Given the description of an element on the screen output the (x, y) to click on. 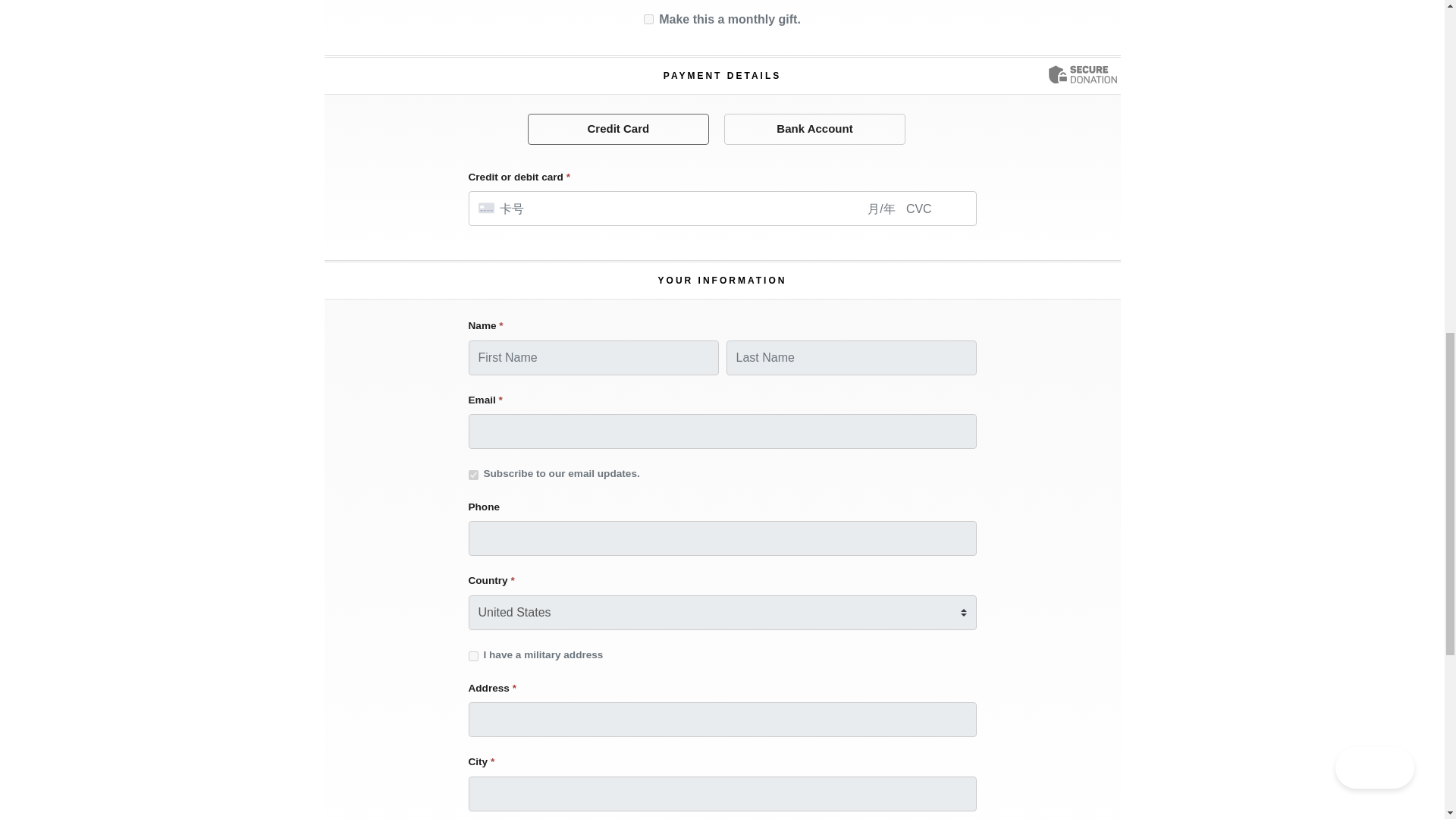
on (648, 19)
Bank Account (814, 128)
on (473, 474)
Credit Card (618, 128)
on (473, 655)
